Given the description of an element on the screen output the (x, y) to click on. 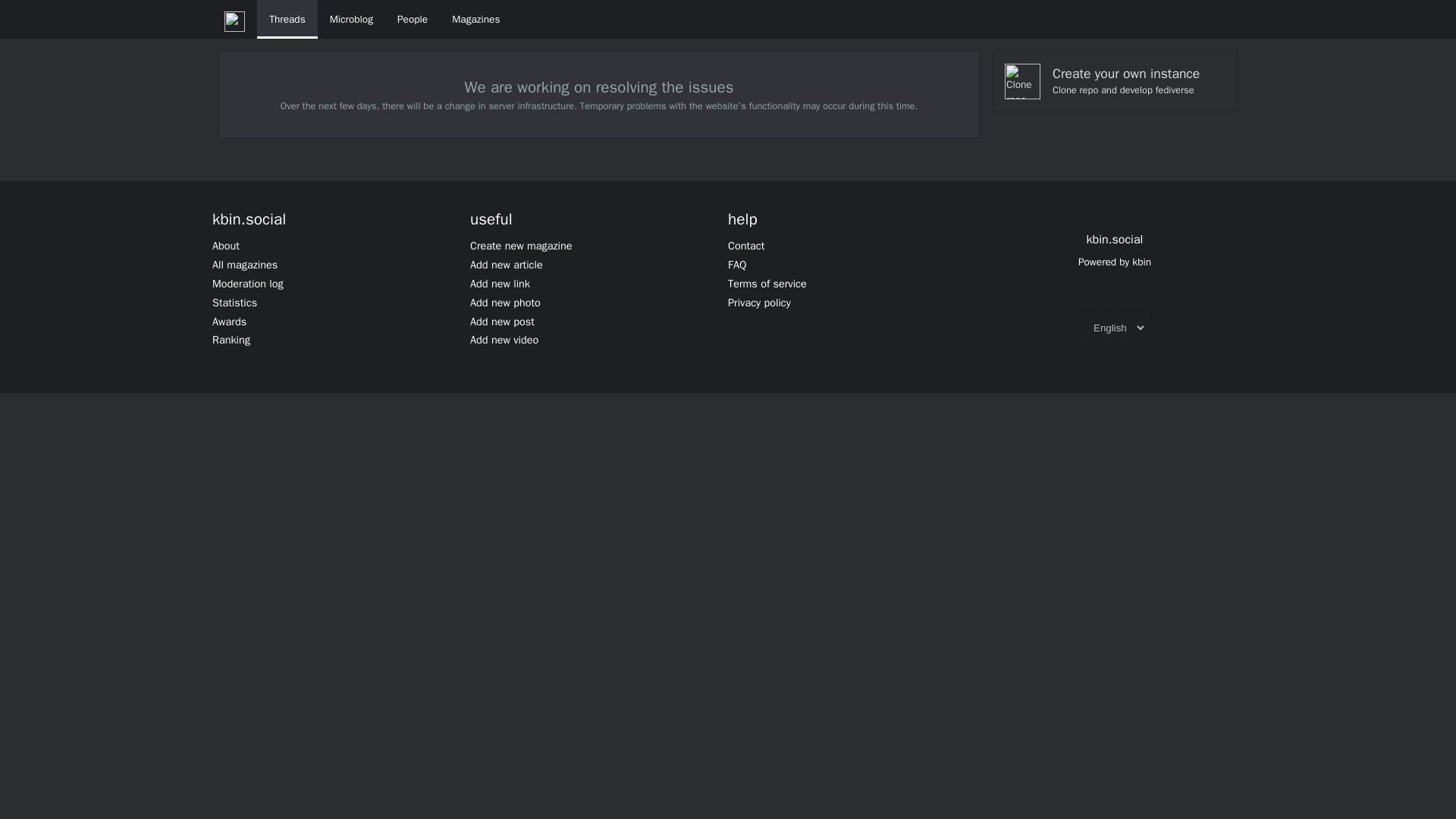
Contact (746, 245)
Add new post (502, 321)
People (412, 19)
Threads (287, 19)
Awards (229, 321)
Terms of service (767, 283)
Magazines (475, 19)
Ranking (231, 339)
Microblog (351, 19)
Add new video (504, 339)
Add new photo (505, 302)
Add new link (499, 283)
About (226, 245)
Privacy policy (759, 302)
All magazines (245, 264)
